Given the description of an element on the screen output the (x, y) to click on. 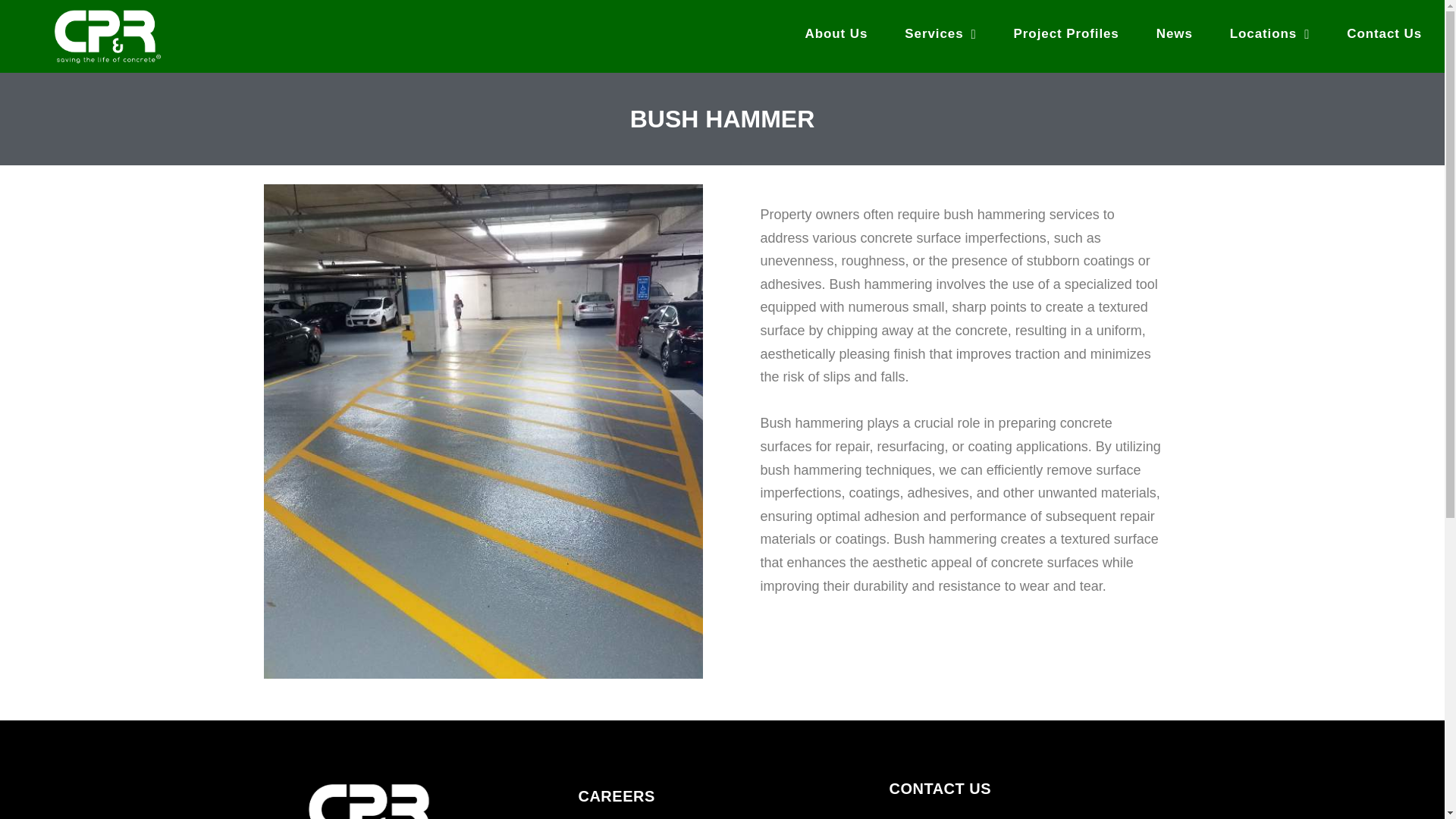
Services (940, 33)
Project Profiles (1066, 33)
CAREERS (615, 795)
Locations (1269, 33)
About Us (836, 33)
News (1174, 33)
Contact Us (1384, 33)
